Given the description of an element on the screen output the (x, y) to click on. 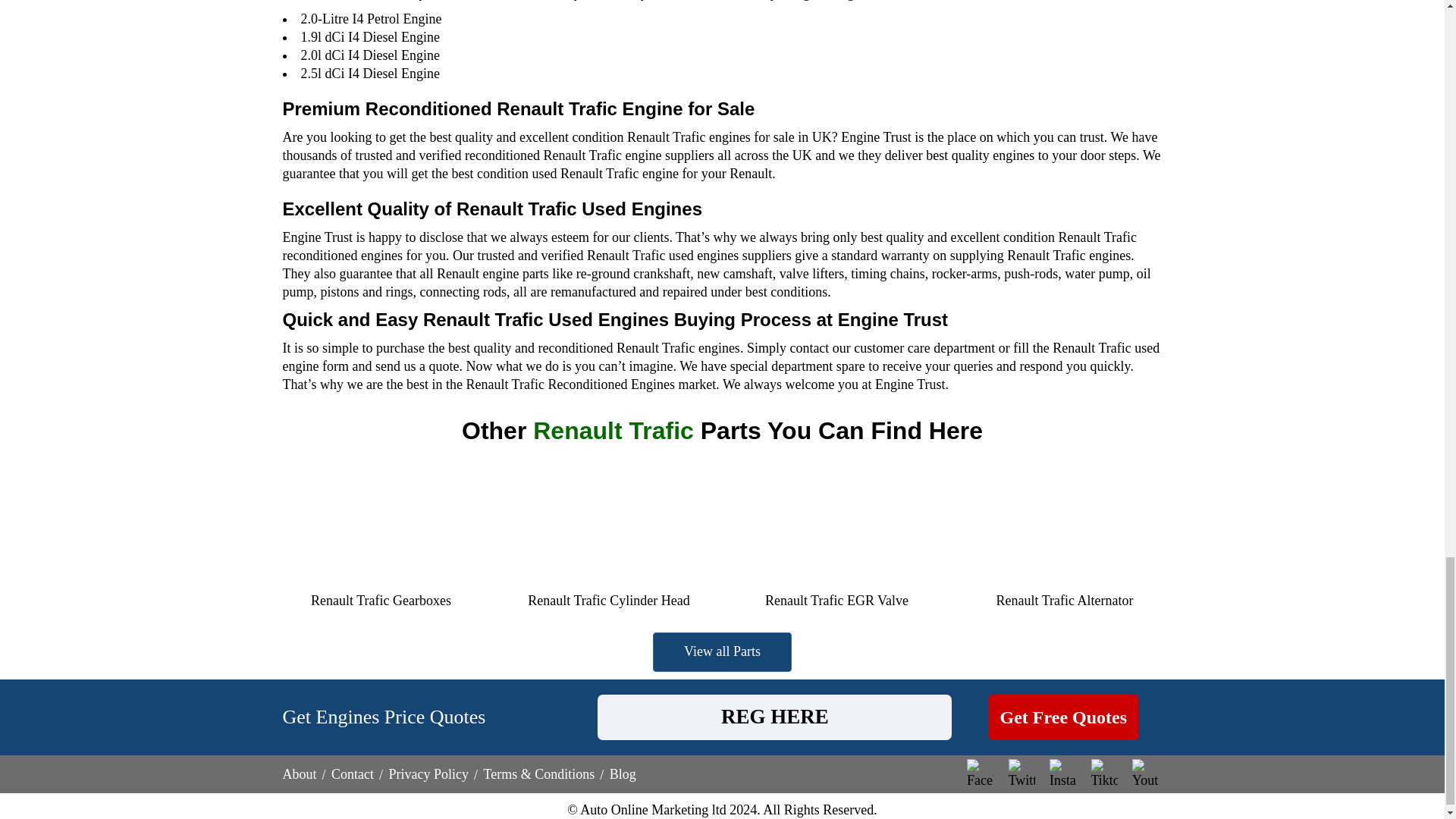
Youtube (1145, 772)
Instagram (1062, 772)
View all Parts (722, 651)
Tiktok (1103, 772)
Privacy Policy (428, 774)
About (298, 774)
Facebook (979, 772)
Contact (352, 774)
Twitter (1022, 772)
Get Free Quotes (1063, 717)
Blog (623, 774)
